Given the description of an element on the screen output the (x, y) to click on. 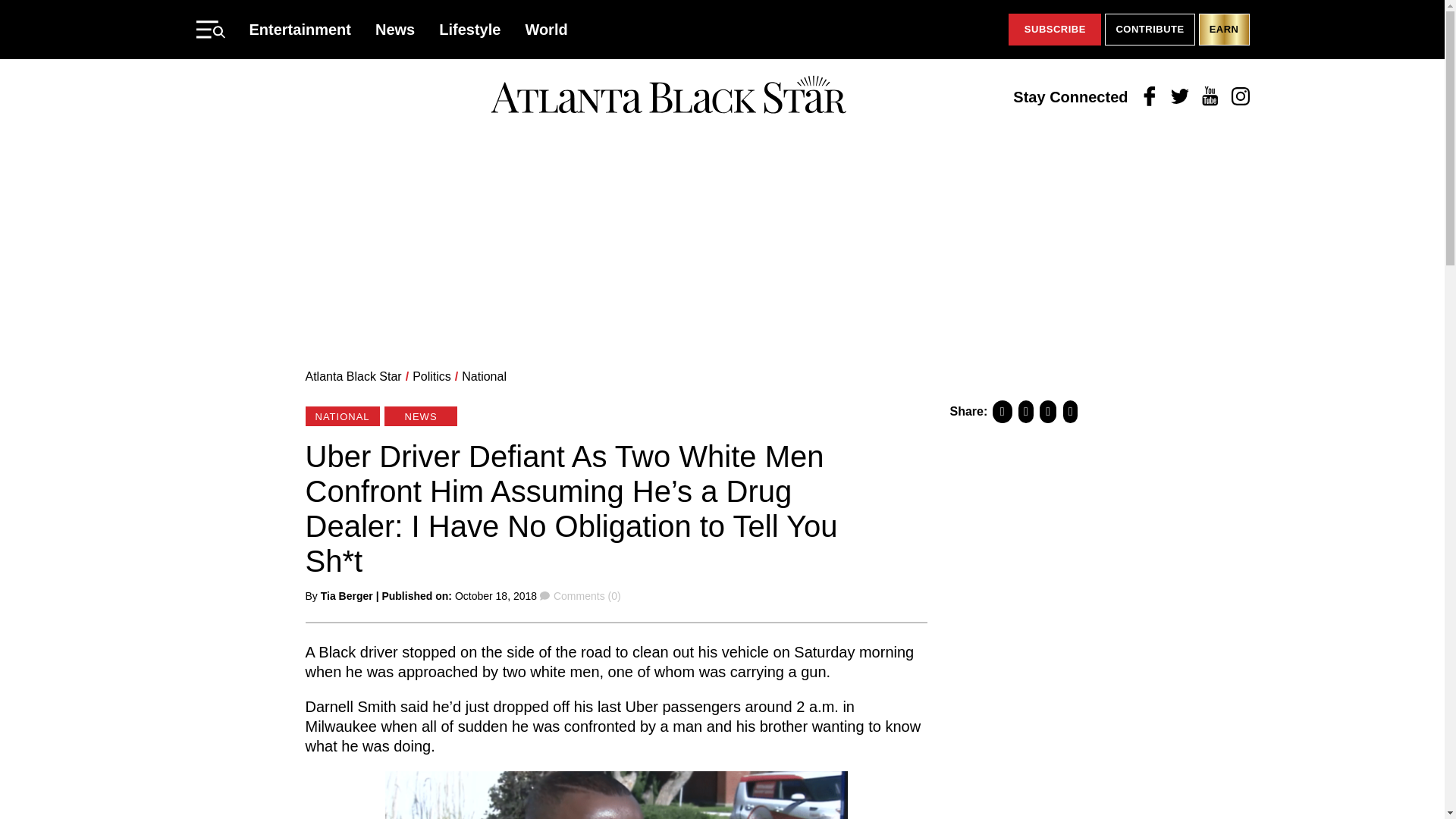
EARN (1223, 29)
SUBSCRIBE (1054, 29)
Lifestyle (469, 29)
Go to Atlanta Black Star. (352, 376)
World (545, 29)
Entertainment (299, 29)
Atlanta Black Star (352, 376)
Go to the Politics Category archives. (431, 376)
CONTRIBUTE (1149, 29)
News (394, 29)
Politics (431, 376)
Go to the National Category archives. (483, 376)
Atlanta Black Star (667, 96)
